Given the description of an element on the screen output the (x, y) to click on. 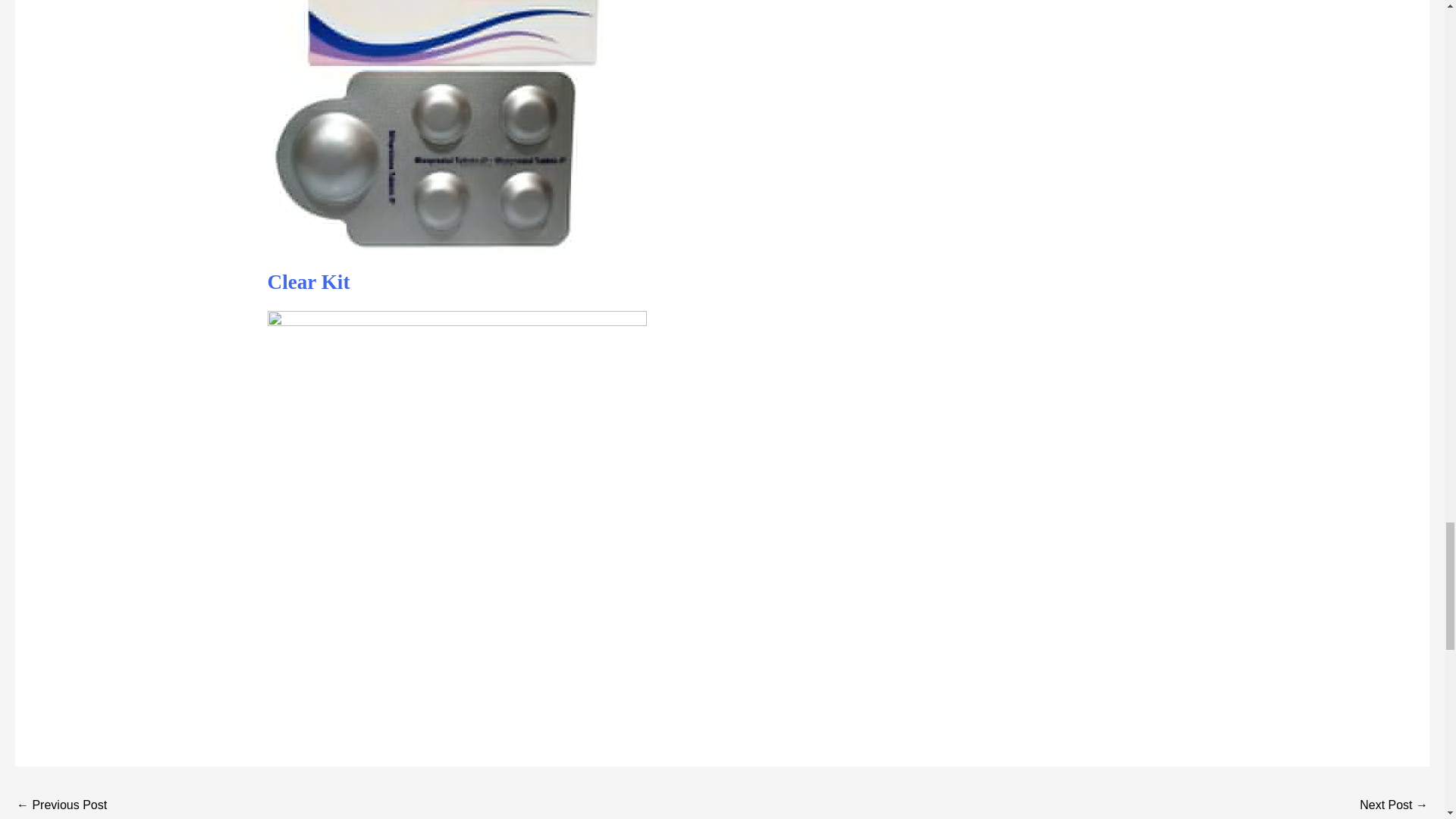
Clear Kit (307, 282)
Best abortion Kit (61, 805)
Female Sex Tablet (1393, 805)
